Given the description of an element on the screen output the (x, y) to click on. 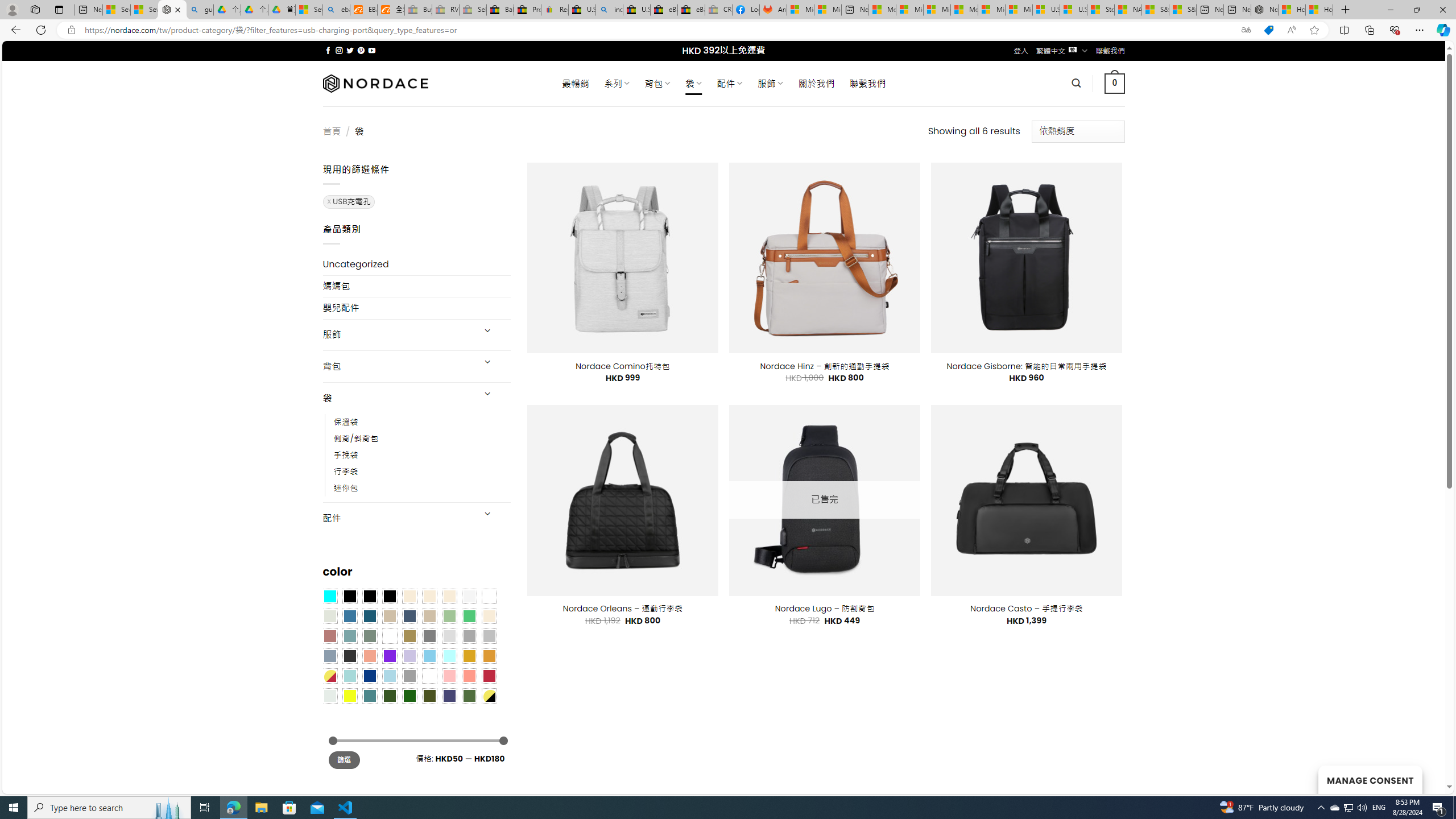
Follow on Twitter (349, 50)
How to Use a Monitor With Your Closed Laptop (1319, 9)
Buy Auto Parts & Accessories | eBay - Sleeping (418, 9)
guge yunpan - Search (200, 9)
